Given the description of an element on the screen output the (x, y) to click on. 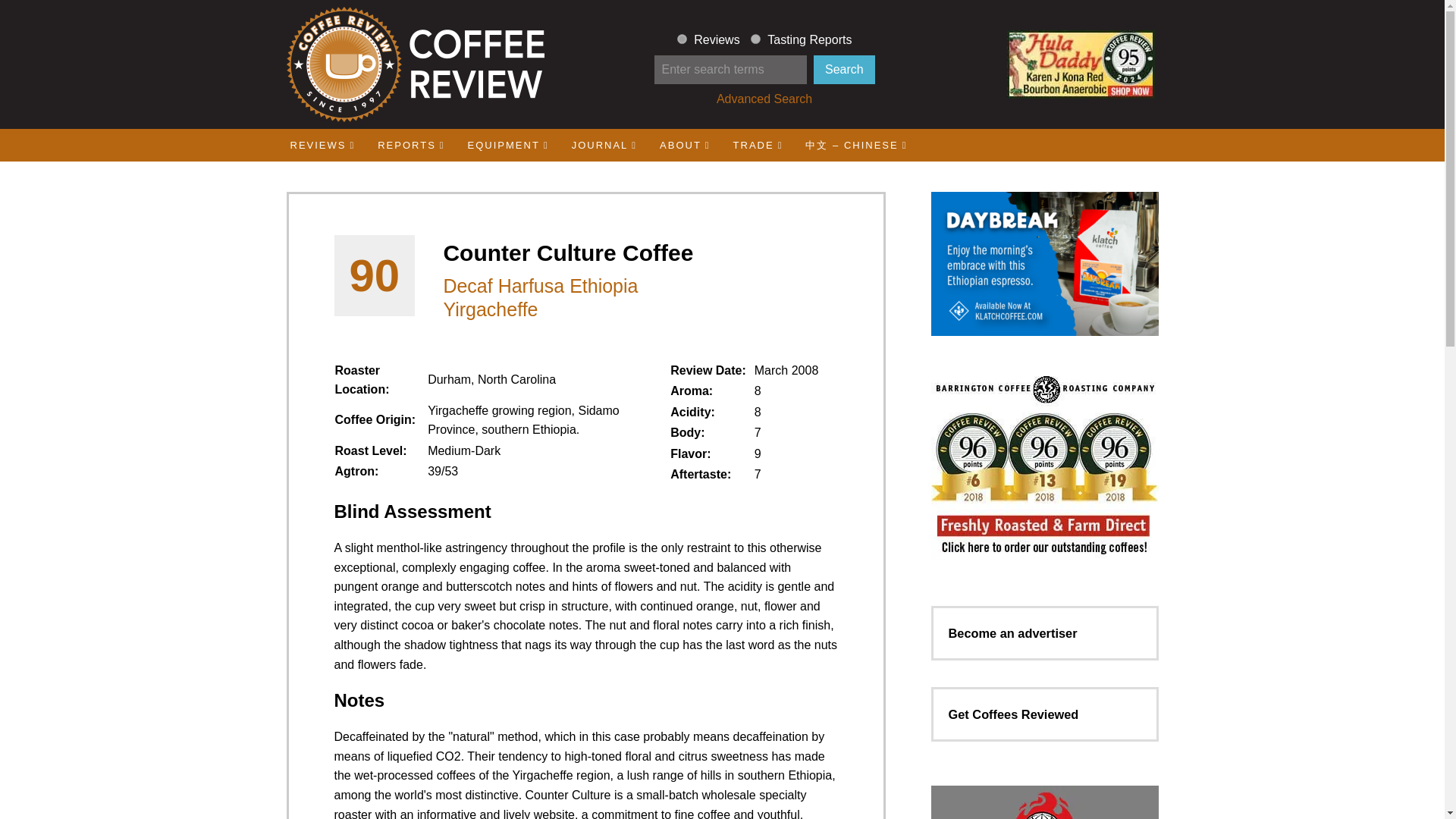
ABOUT (684, 144)
Advanced Search (764, 98)
Get coffees reviewed (1012, 714)
Search (844, 69)
Search (844, 69)
review (682, 39)
REPORTS (410, 144)
post (755, 39)
COFFEE REVIEW (414, 64)
